Given the description of an element on the screen output the (x, y) to click on. 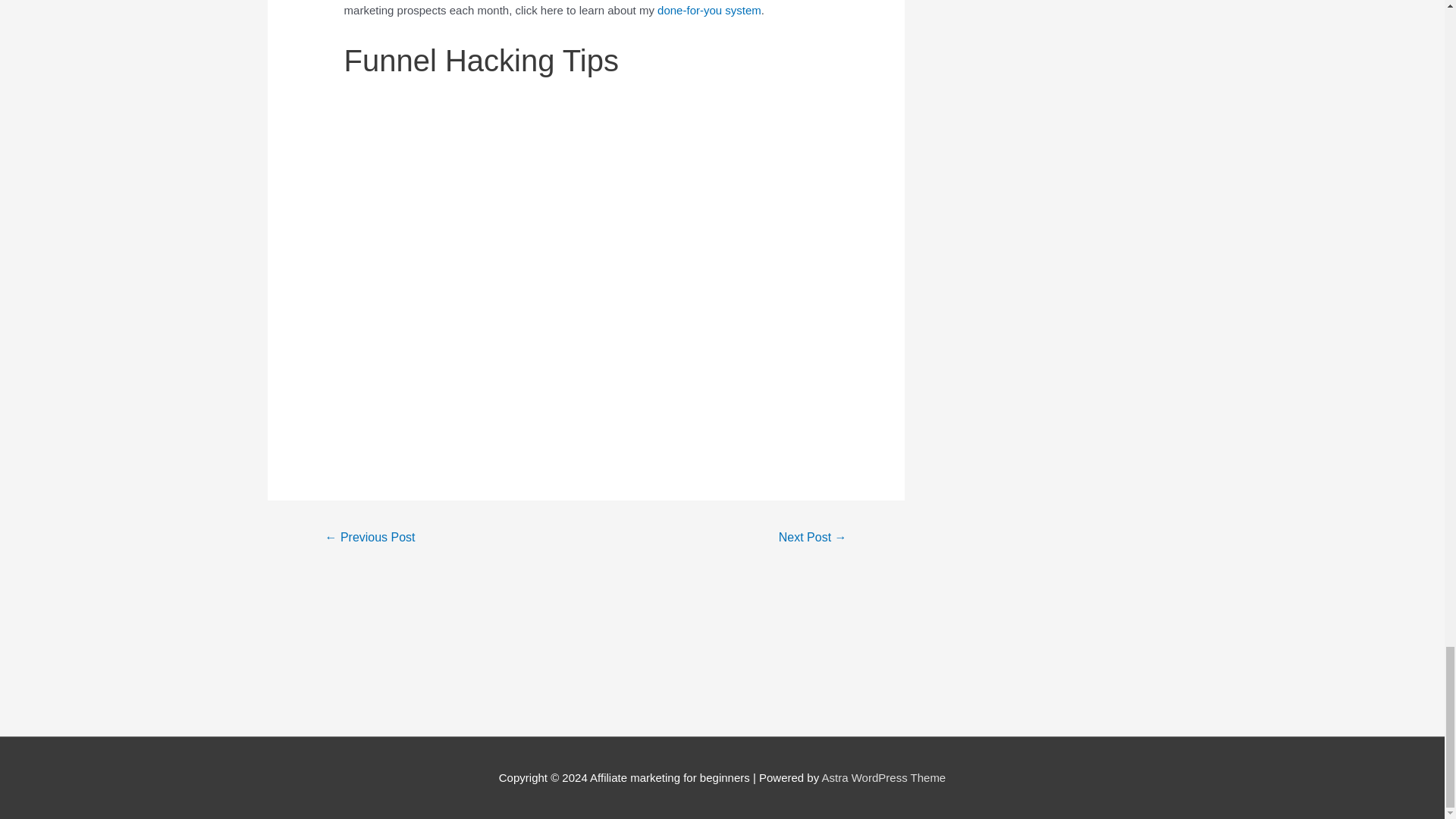
done-for-you system (709, 10)
Astra WordPress Theme (884, 777)
